Given the description of an element on the screen output the (x, y) to click on. 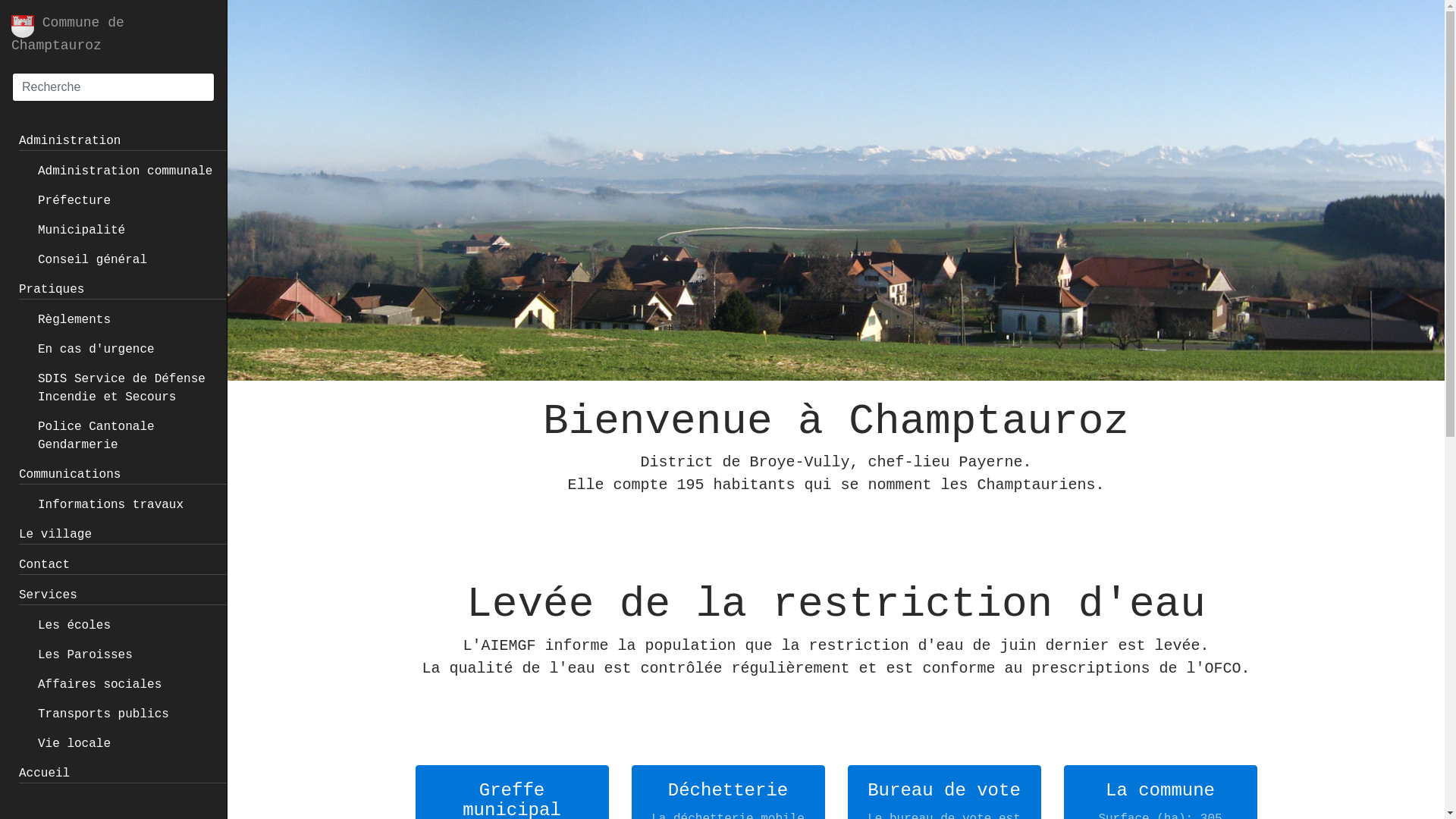
Transports publics Element type: text (103, 714)
Vie locale Element type: text (73, 743)
Commune de Champtauroz Element type: text (113, 33)
Les Paroisses Element type: text (84, 655)
En cas d'urgence Element type: text (95, 349)
Affaires sociales Element type: text (99, 684)
Informations travaux Element type: text (110, 504)
Administration communale Element type: text (124, 171)
Le village Element type: text (54, 534)
Accueil Element type: text (43, 773)
Police Cantonale Gendarmerie Element type: text (95, 435)
Contact Element type: text (43, 564)
